Given the description of an element on the screen output the (x, y) to click on. 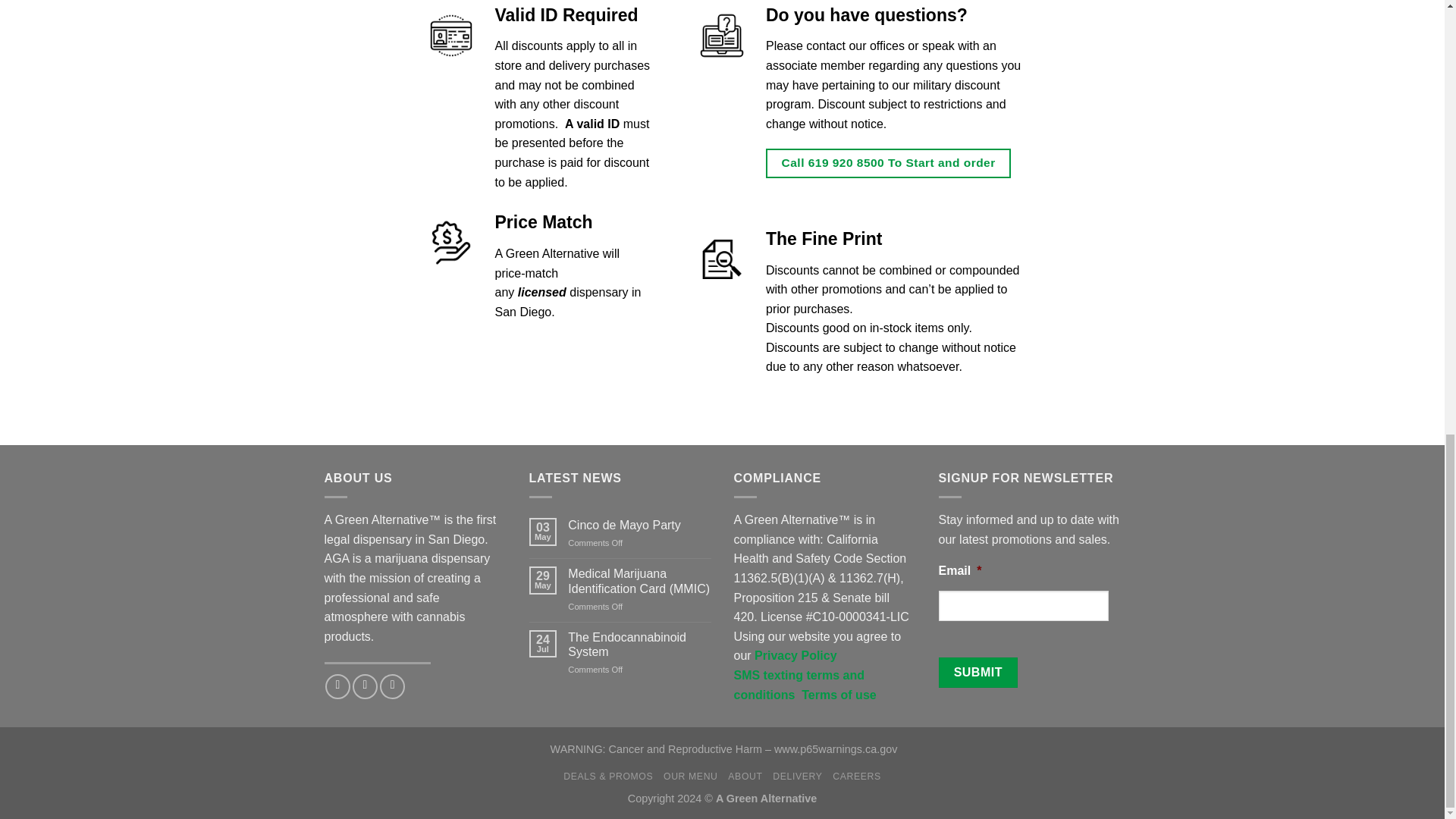
CAREERS (856, 776)
DELIVERY (797, 776)
Privacy Policy (795, 655)
Submit (978, 672)
The Endocannabinoid System (638, 644)
The Endocannabinoid System (638, 644)
Follow on Instagram (364, 686)
Terms of use (839, 694)
Send us an email (392, 686)
SMS texting terms and conditions  (798, 685)
Cinco de Mayo Party (638, 524)
Call 619 920 8500 To Start and order (887, 163)
Follow on Facebook (337, 686)
ABOUT (744, 776)
OUR MENU (690, 776)
